Given the description of an element on the screen output the (x, y) to click on. 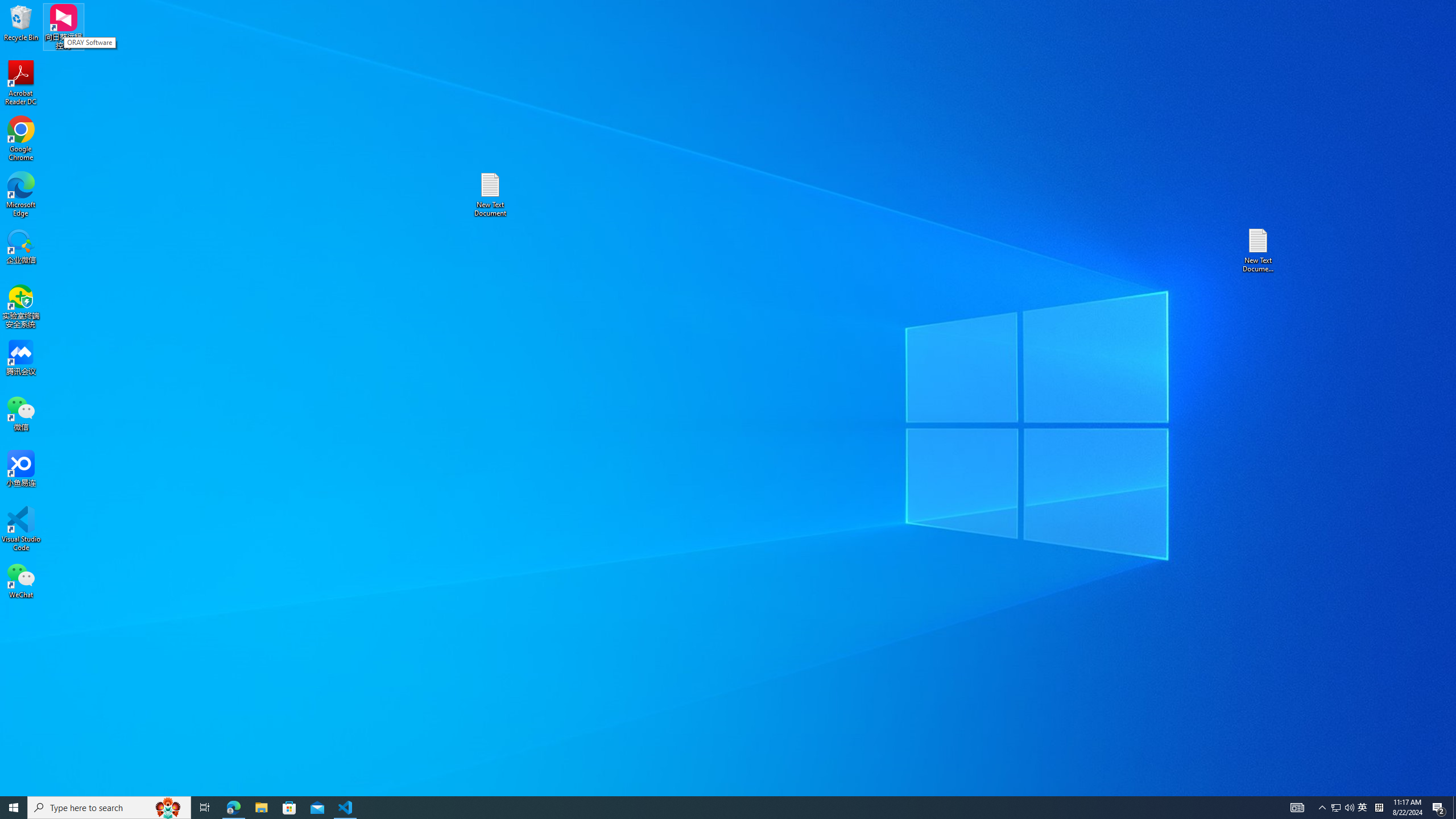
Acrobat Reader DC (21, 82)
WeChat (21, 580)
Visual Studio Code - 1 running window (345, 807)
